Given the description of an element on the screen output the (x, y) to click on. 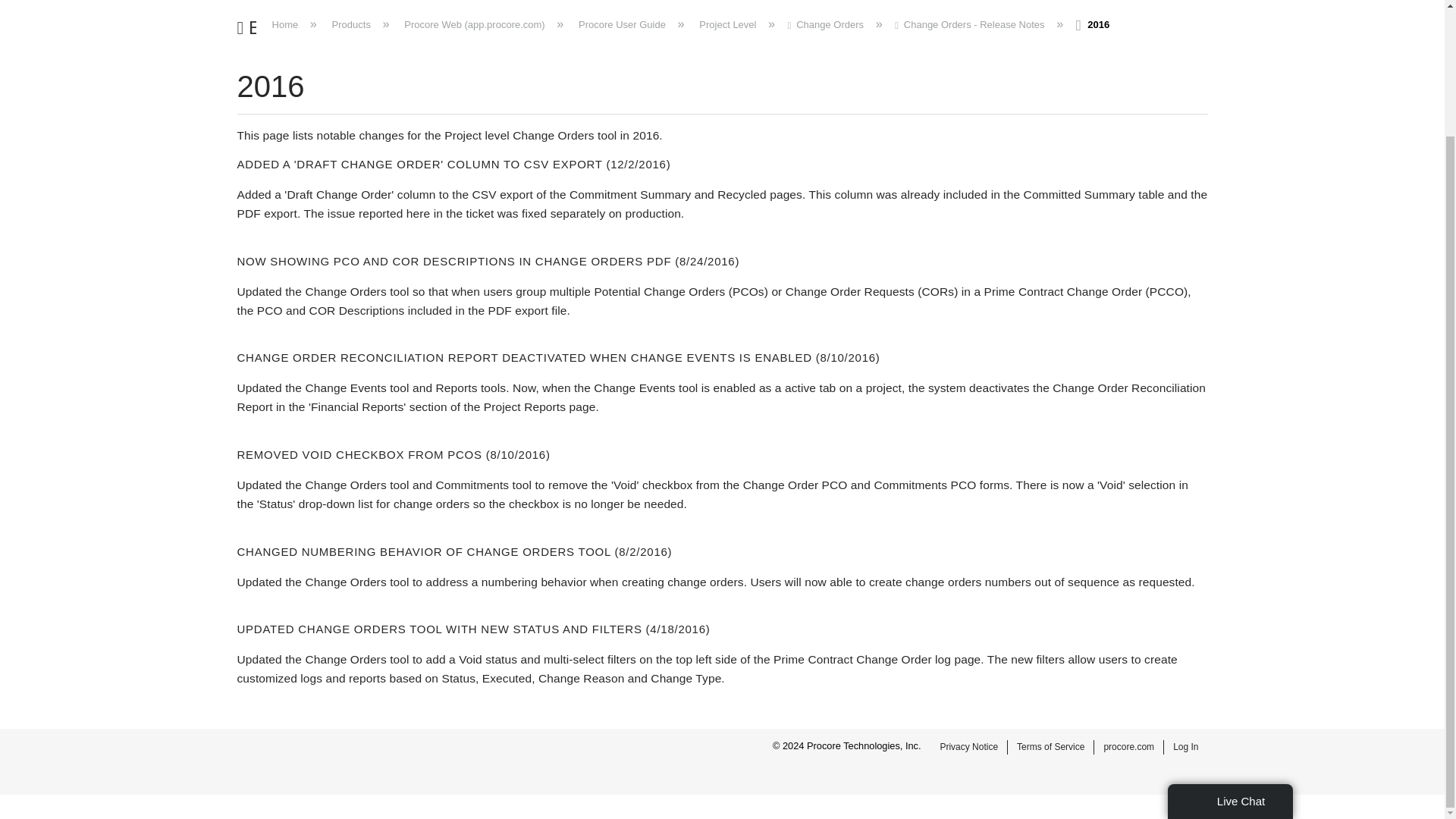
Project Level (727, 24)
Change Orders (826, 24)
Home (285, 24)
Products (350, 24)
Procore User Guide (622, 24)
Change Orders - Release Notes (970, 24)
Live Chat (1229, 648)
